Given the description of an element on the screen output the (x, y) to click on. 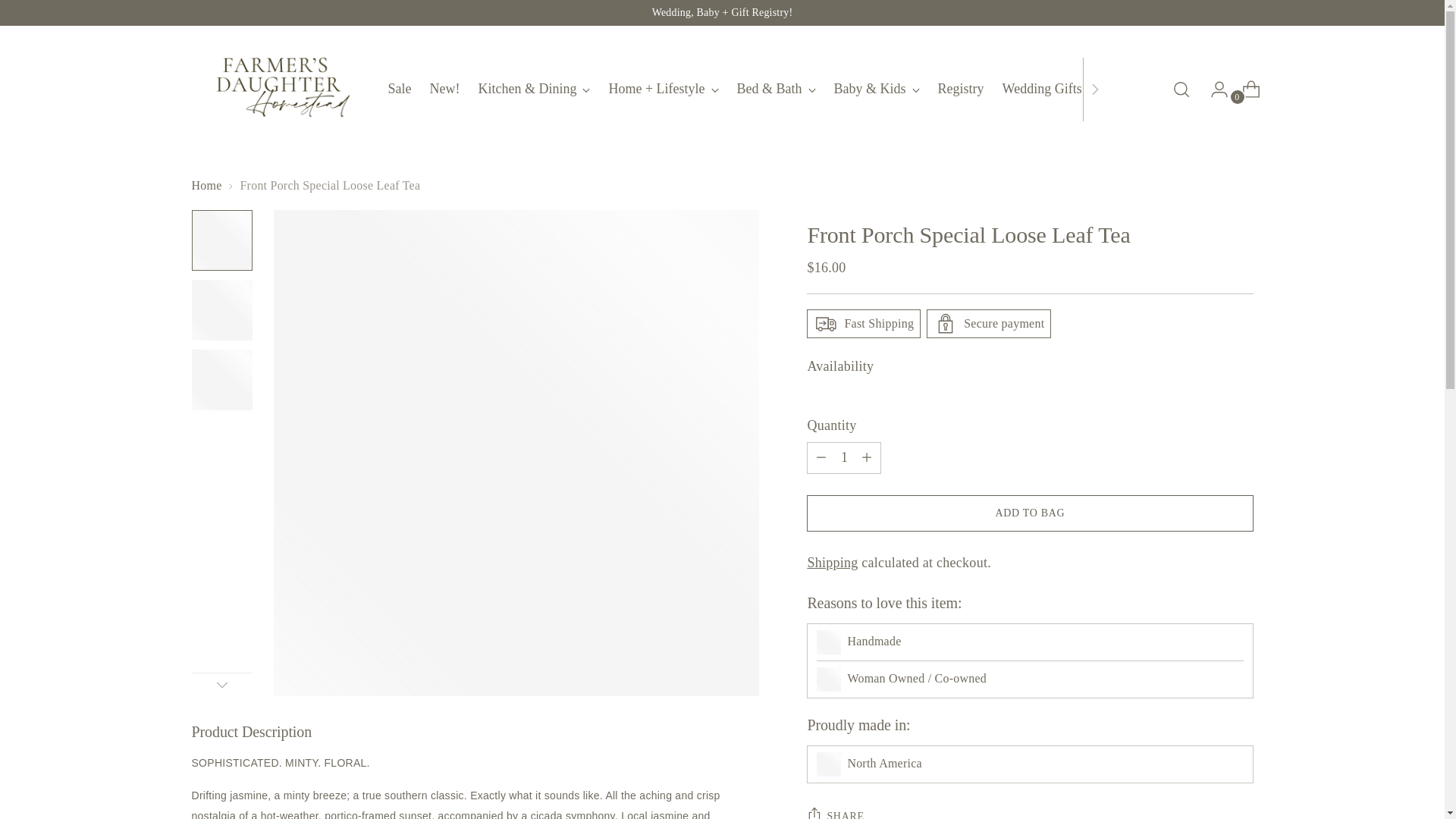
Down (220, 684)
1 (843, 458)
New! (444, 89)
